Given the description of an element on the screen output the (x, y) to click on. 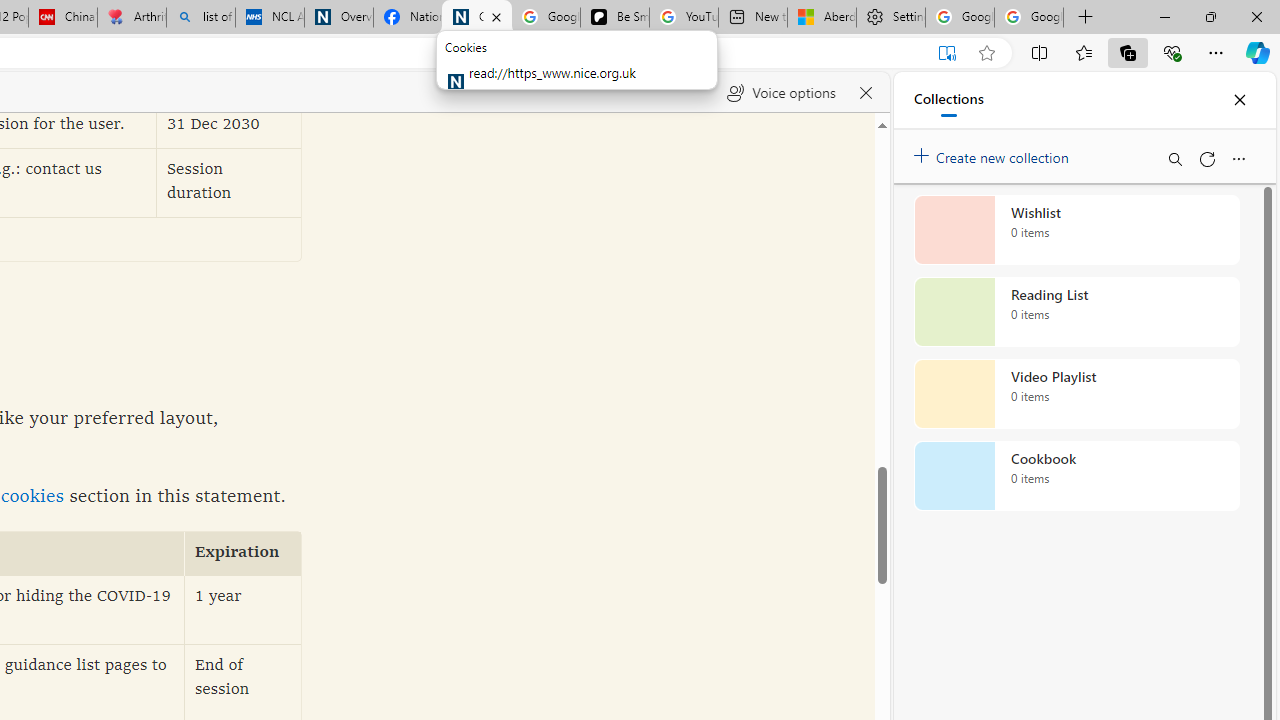
Reading List collection, 0 items (1076, 312)
Close read aloud (865, 92)
Session duration (229, 182)
Enter Immersive Reader (F9) (946, 53)
Cookbook collection, 0 items (1076, 475)
1 year (243, 610)
Create new collection (994, 153)
More options menu (1238, 158)
NCL Adult Asthma Inhaler Choice Guideline (269, 17)
